Given the description of an element on the screen output the (x, y) to click on. 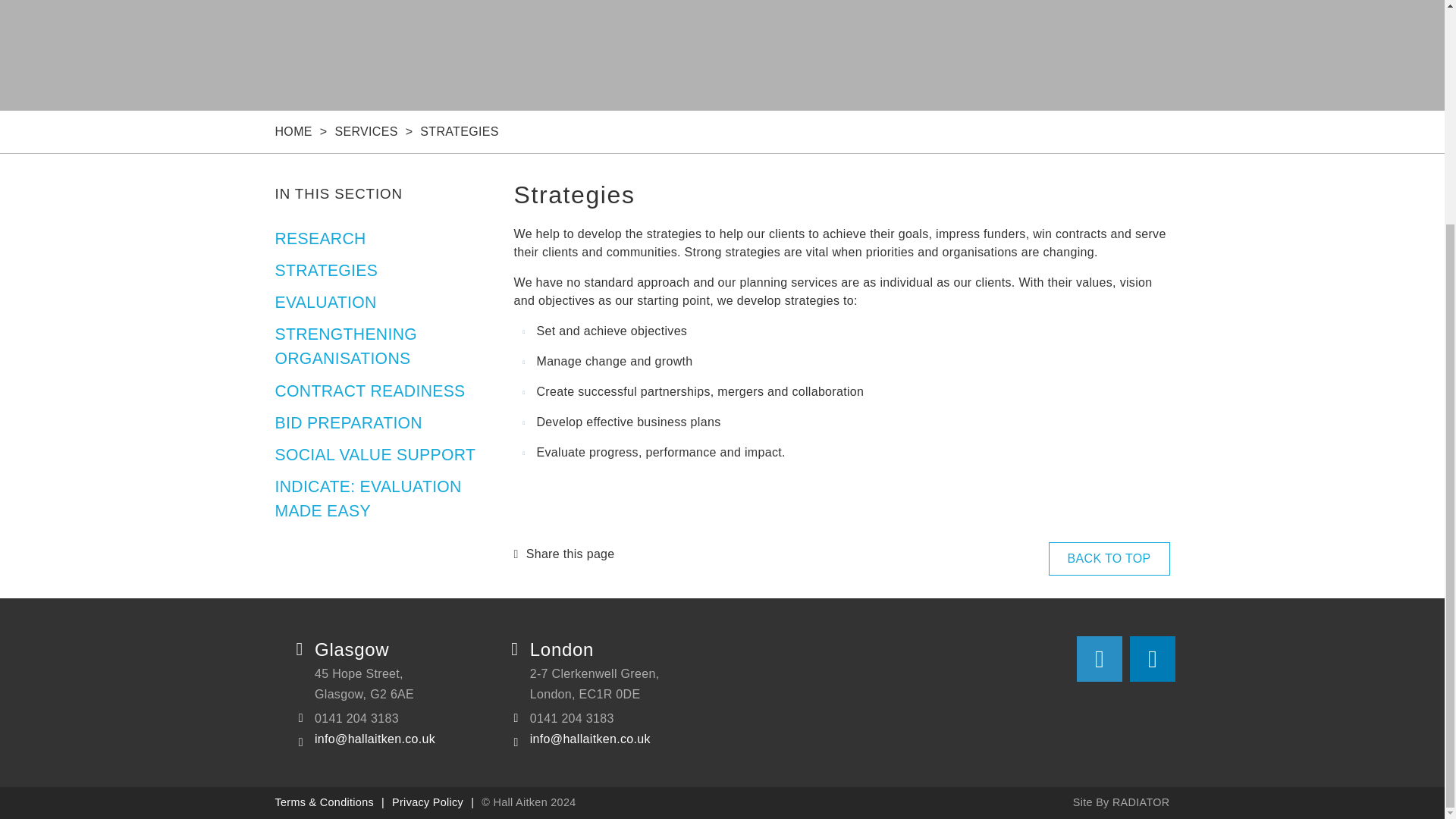
Radiator Digital (1121, 802)
BACK TO TOP (1109, 558)
Back To Top (1109, 558)
Site By RADIATOR (1121, 802)
INDICATE: EVALUATION MADE EASY (368, 498)
STRATEGIES (326, 270)
RESEARCH (320, 238)
Privacy Policy (427, 802)
SOCIAL VALUE SUPPORT (375, 454)
BID PREPARATION (348, 422)
